Given the description of an element on the screen output the (x, y) to click on. 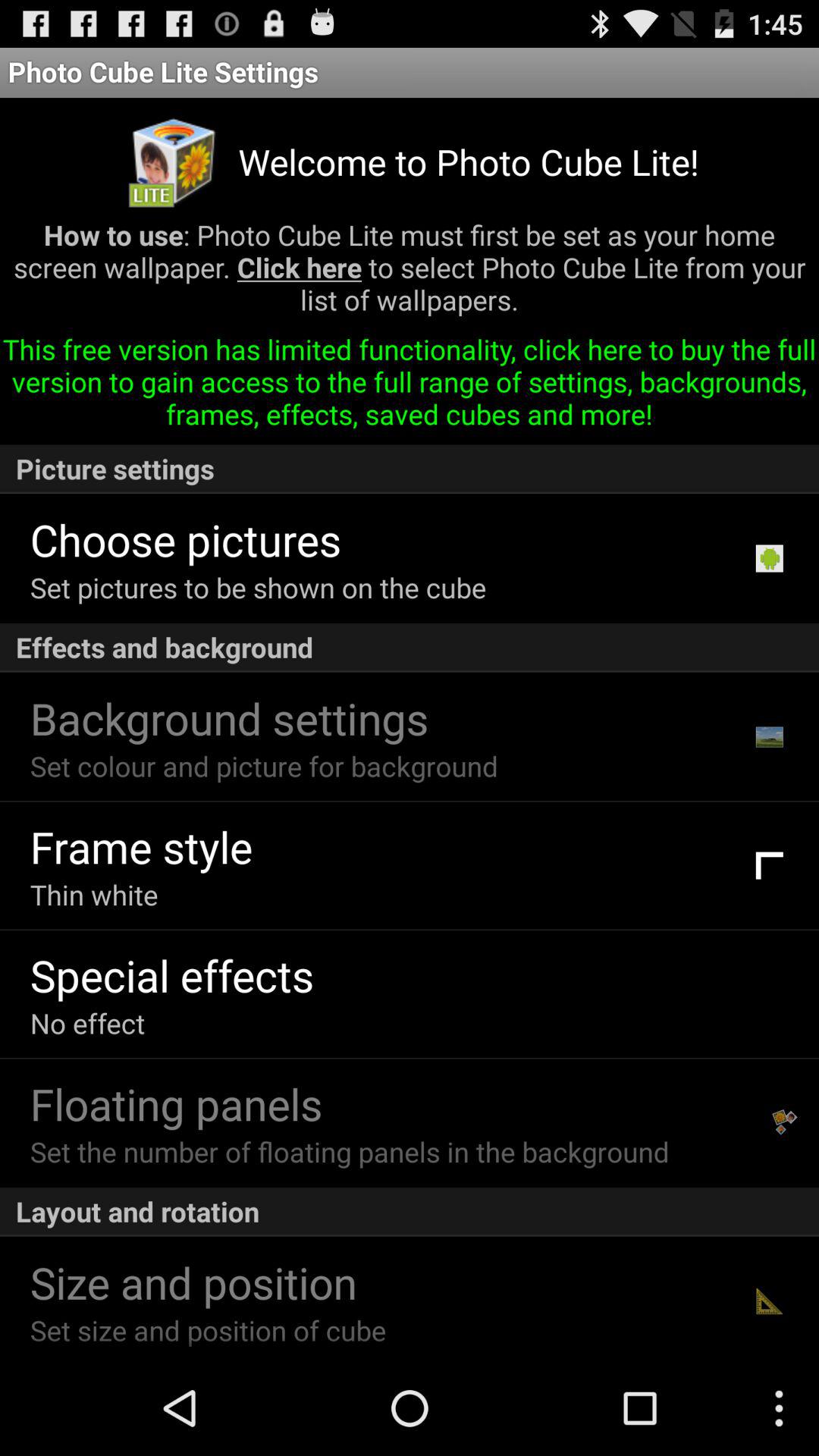
select the icon next to the set size and icon (769, 1300)
